Given the description of an element on the screen output the (x, y) to click on. 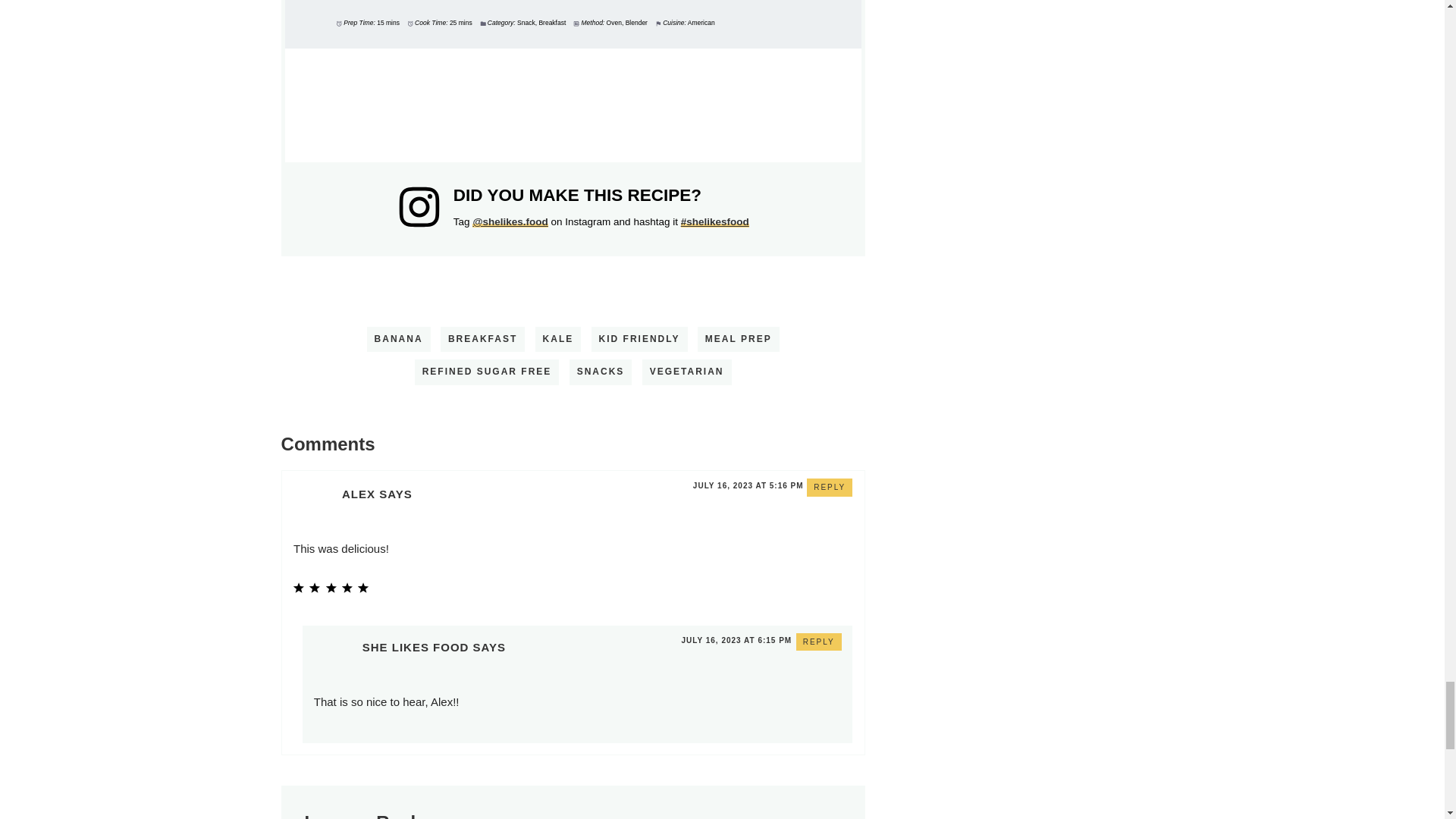
nutritional information (573, 105)
